Given the description of an element on the screen output the (x, y) to click on. 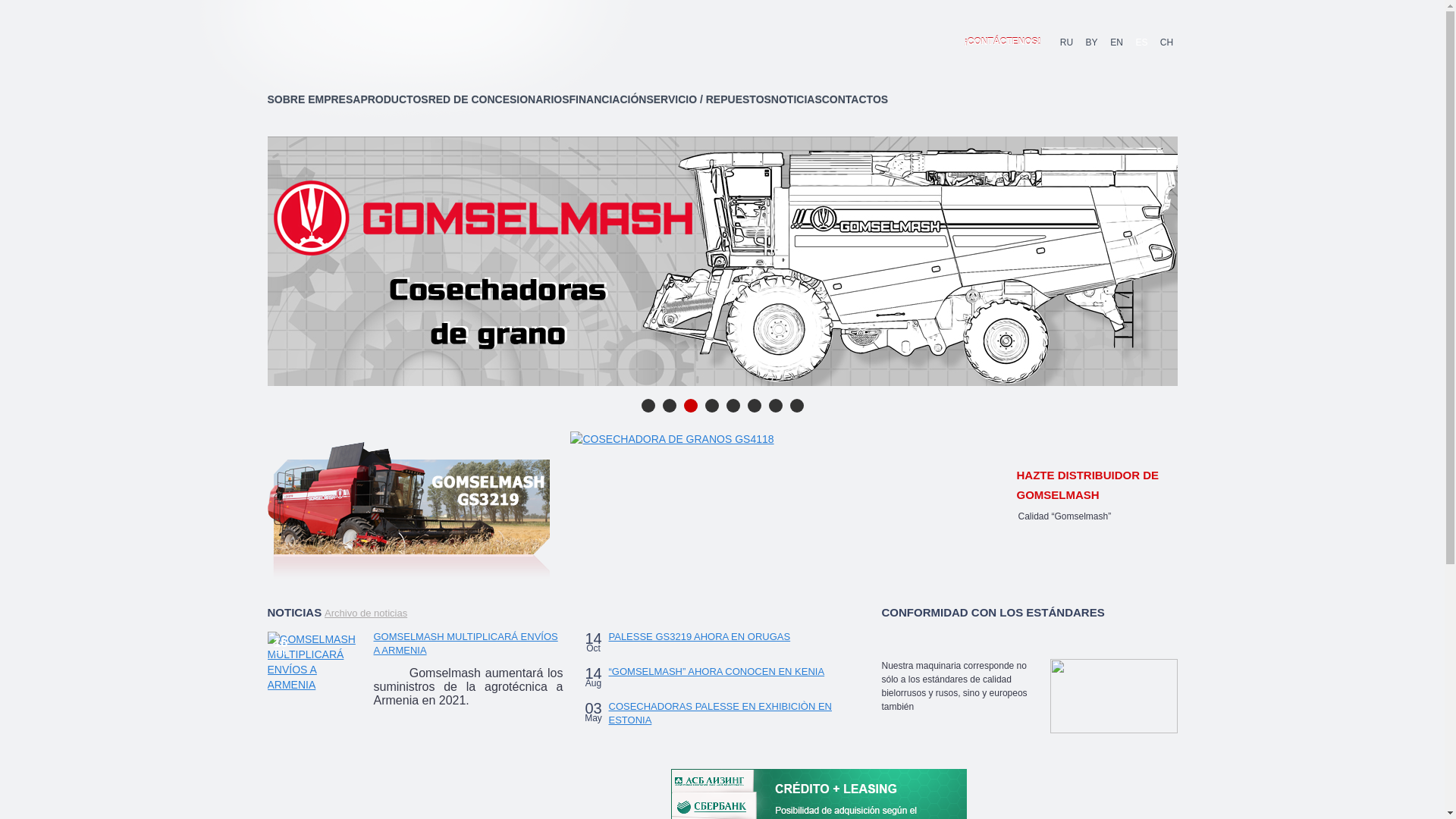
0 Element type: text (132, 35)
SERVICIO / REPUESTOS Element type: text (708, 98)
RED DE CONCESIONARIOS Element type: text (498, 98)
SOBRE EMPRESA Element type: text (313, 98)
RU Element type: text (1065, 42)
NOTICIAS Element type: text (796, 98)
ES Element type: text (1141, 42)
EN Element type: text (1115, 42)
Gomselmash Element type: text (404, 41)
prev Element type: text (290, 258)
PRODUCTOS Element type: text (393, 98)
CH Element type: text (1165, 42)
PALESSE GS3219 AHORA EN ORUGAS Element type: text (699, 636)
0 Element type: text (132, 28)
Next Element type: text (1055, 499)
Prev Element type: text (1030, 499)
CONTACTOS Element type: text (855, 98)
next Element type: text (1153, 258)
Archivo de noticias Element type: text (365, 612)
BY Element type: text (1091, 42)
